Given the description of an element on the screen output the (x, y) to click on. 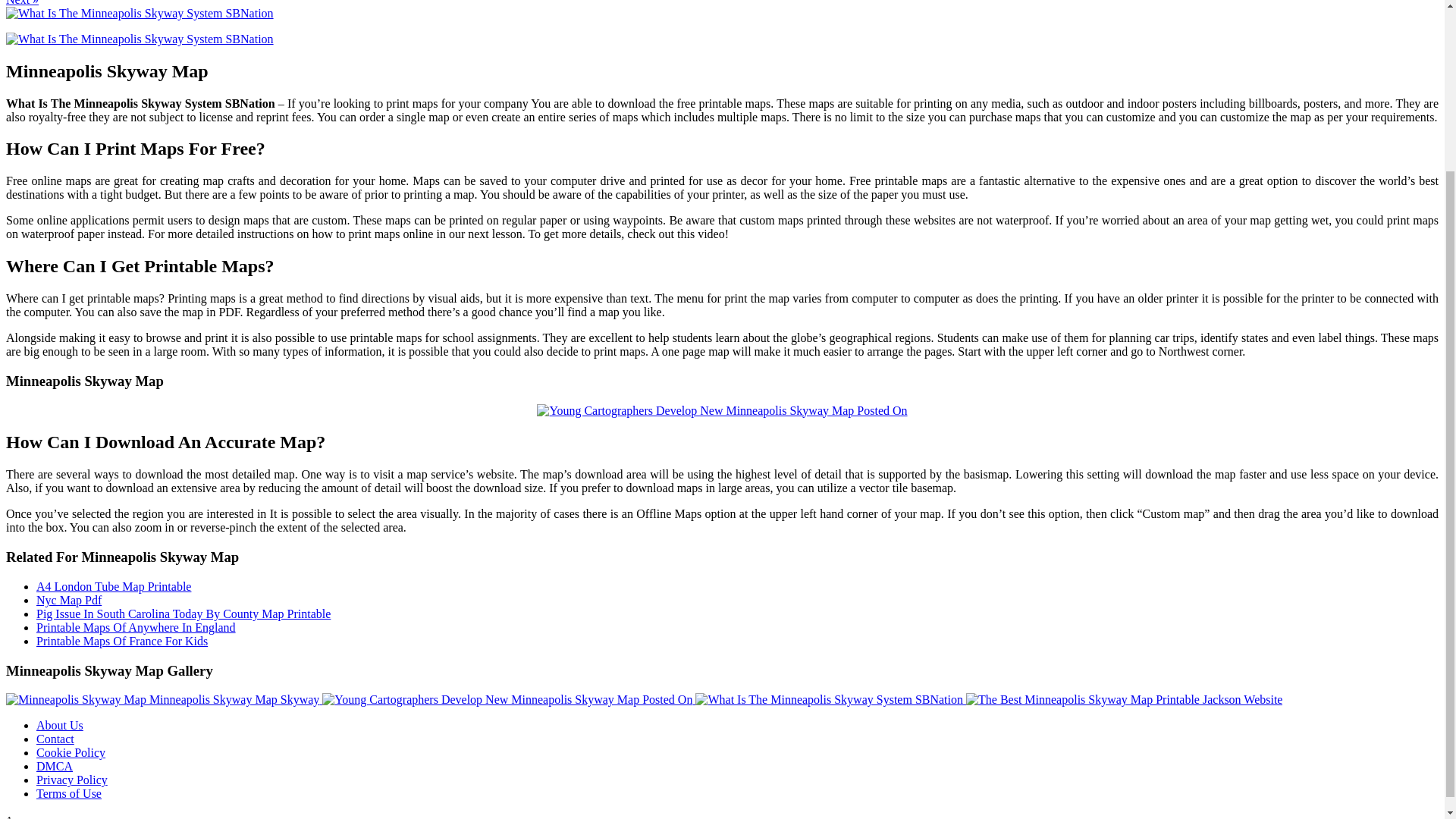
A4 London Tube Map Printable (113, 585)
Printable Maps Of Anywhere In England (135, 626)
Terms of Use (68, 793)
Minneapolis Skyway Map Minneapolis Skyway Map Skyway (161, 699)
Minneapolis Skyway Map Minneapolis Skyway Map Skyway (163, 698)
Privacy Policy (71, 779)
Printable Maps Of France For Kids (122, 640)
What Is The Minneapolis Skyway System SBNation (139, 12)
What Is The Minneapolis Skyway System SBNation (828, 699)
About Us (59, 725)
Pig Issue In South Carolina Today By County Map Printable (183, 613)
Contact (55, 738)
DMCA (54, 766)
What Is The Minneapolis Skyway System SBNation (830, 698)
